Given the description of an element on the screen output the (x, y) to click on. 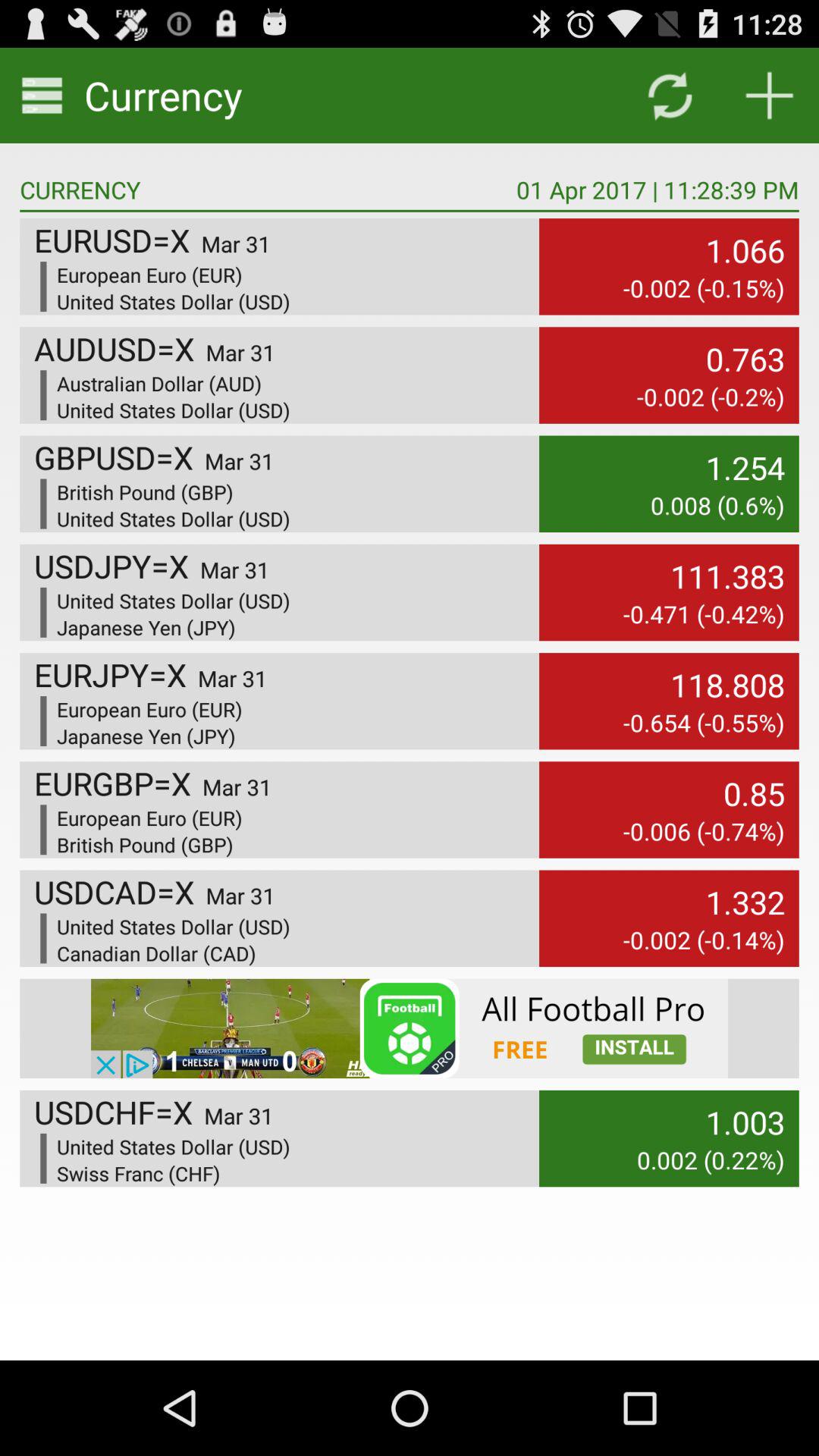
refresh (669, 95)
